Given the description of an element on the screen output the (x, y) to click on. 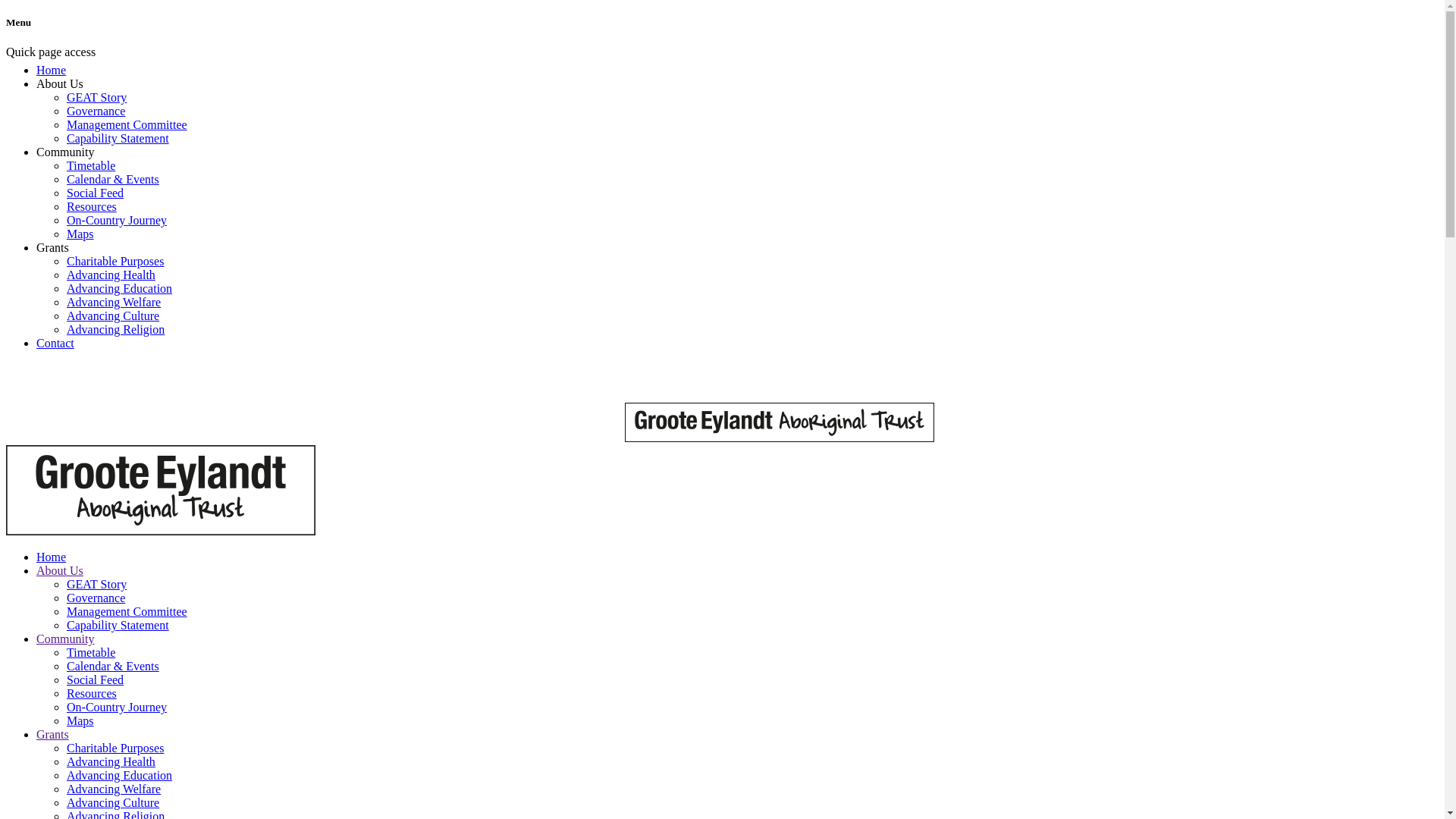
Resources Element type: text (91, 206)
Maps Element type: text (80, 233)
Advancing Education Element type: text (119, 288)
Calendar & Events Element type: text (112, 178)
Maps Element type: text (80, 720)
Social Feed Element type: text (94, 192)
Governance Element type: text (95, 597)
Resources Element type: text (91, 693)
Capability Statement Element type: text (117, 624)
Management Committee Element type: text (126, 124)
Management Committee Element type: text (126, 611)
Advancing Religion Element type: text (115, 329)
Community Element type: text (65, 151)
GEAT Story Element type: text (96, 97)
Advancing Culture Element type: text (112, 802)
On-Country Journey Element type: text (116, 219)
Advancing Welfare Element type: text (113, 301)
Home Element type: text (50, 556)
Contact Element type: text (55, 342)
About Us Element type: text (59, 83)
Advancing Welfare Element type: text (113, 788)
About Us Element type: text (59, 570)
Advancing Education Element type: text (119, 774)
On-Country Journey Element type: text (116, 706)
Grants Element type: text (52, 734)
Advancing Health Element type: text (110, 761)
GEAT Story Element type: text (96, 583)
Charitable Purposes Element type: text (114, 747)
Social Feed Element type: text (94, 679)
Home Element type: text (50, 69)
Capability Statement Element type: text (117, 137)
Charitable Purposes Element type: text (114, 260)
Governance Element type: text (95, 110)
Timetable Element type: text (90, 165)
Advancing Culture Element type: text (112, 315)
Calendar & Events Element type: text (112, 665)
Timetable Element type: text (90, 652)
Community Element type: text (65, 638)
Advancing Health Element type: text (110, 274)
Grants Element type: text (52, 247)
